Given the description of an element on the screen output the (x, y) to click on. 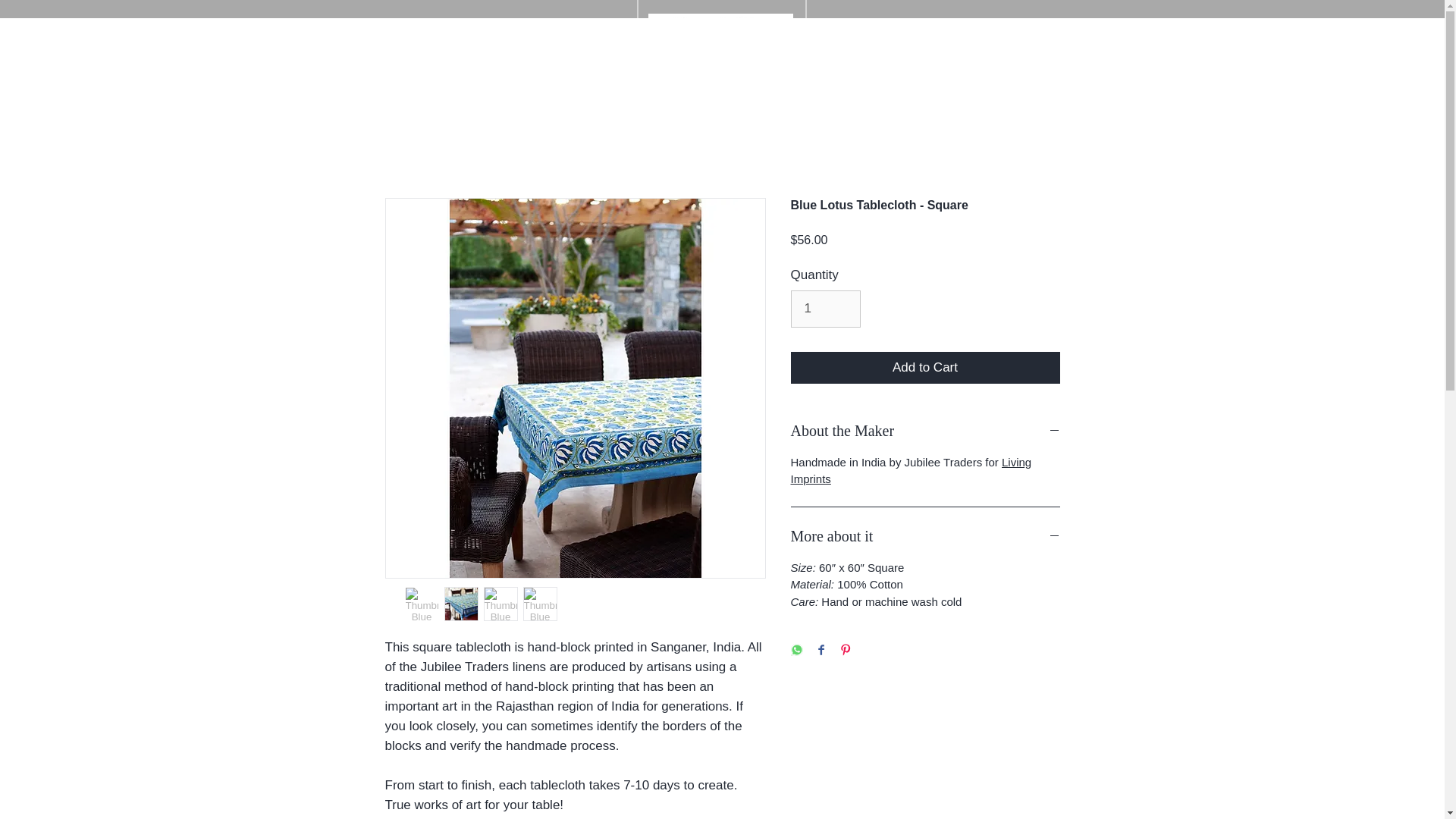
About the Maker (924, 430)
About (479, 33)
Cart (1031, 37)
Gift Card (600, 33)
1 (825, 308)
Living Imprints (910, 470)
Add to Cart (924, 368)
More about it (924, 536)
Cart (1031, 37)
Home (376, 33)
